Given the description of an element on the screen output the (x, y) to click on. 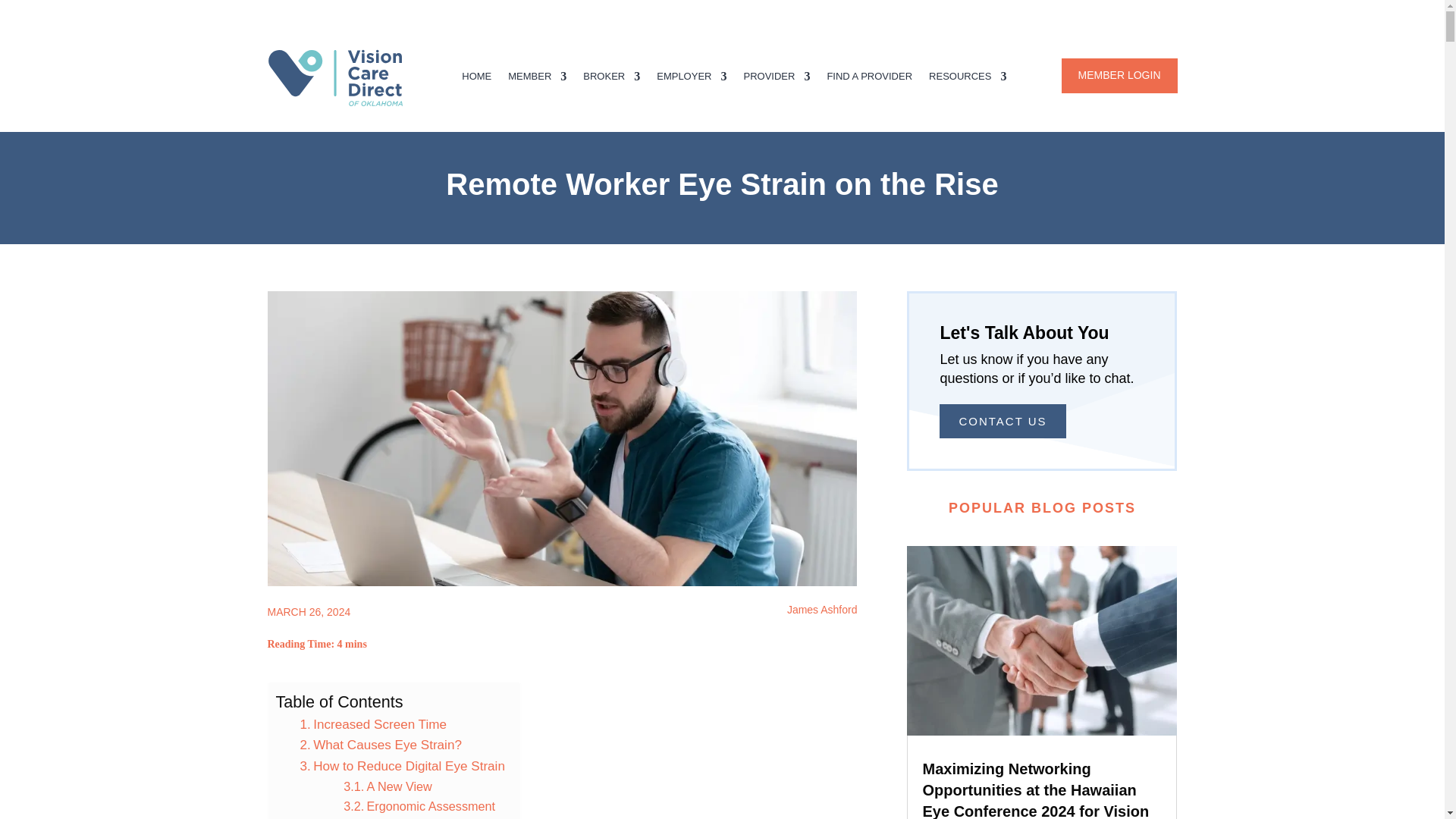
FIND A PROVIDER (869, 79)
RESOURCES (967, 79)
Ergonomic Assessment (419, 805)
BROKER (611, 79)
A New View (387, 786)
VCD-OK-HorLogo-Web (344, 77)
Increased Screen Time (372, 724)
PROVIDER (775, 79)
Monitor (375, 817)
HOME (476, 79)
What Causes Eye Strain? (380, 744)
MEMBER (537, 79)
EMPLOYER (691, 79)
How to Reduce Digital Eye Strain (402, 765)
